Given the description of an element on the screen output the (x, y) to click on. 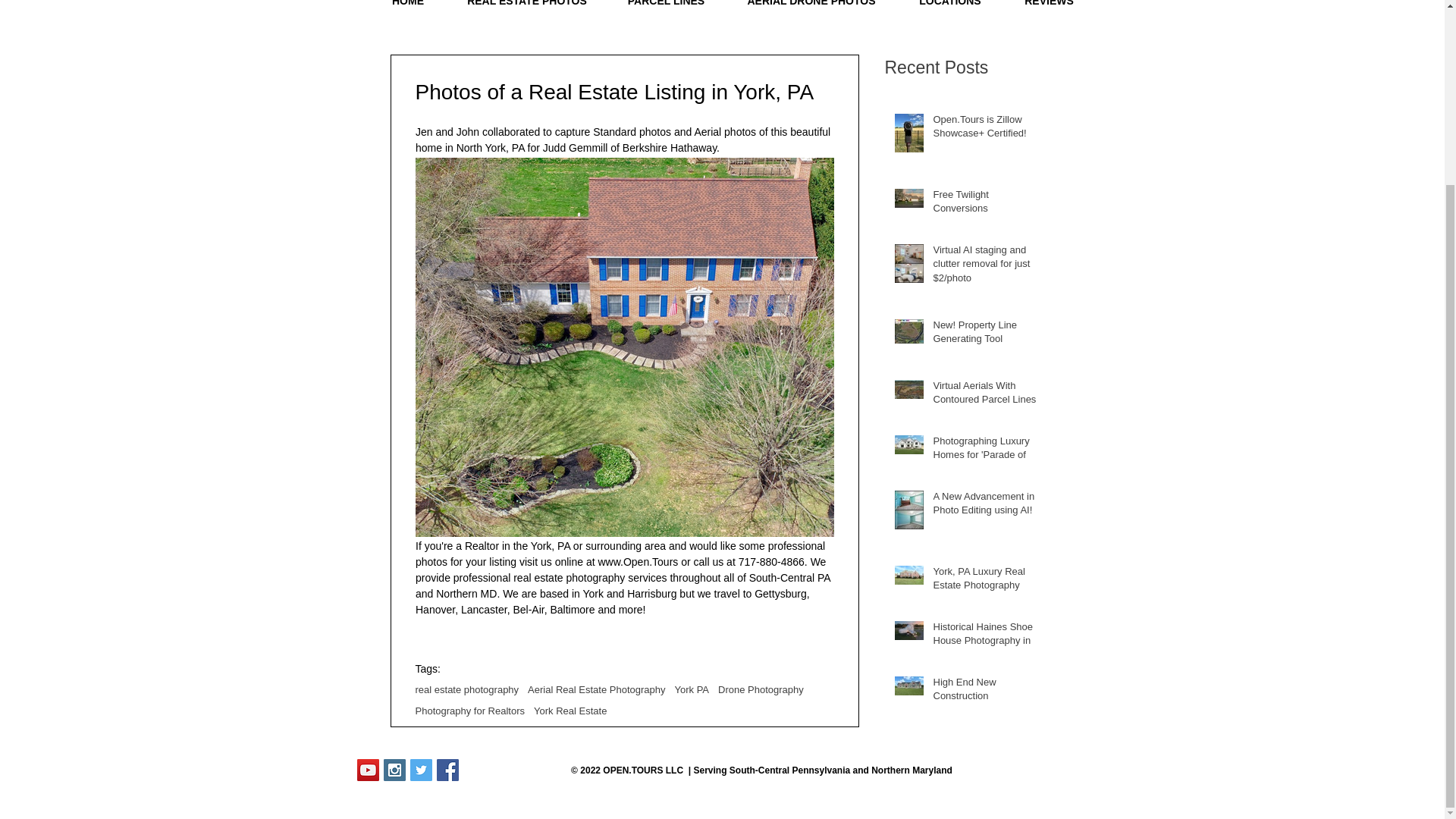
New! Property Line Generating Tool (987, 335)
York, PA Luxury Real Estate Photography (987, 581)
Photography for Realtors (469, 710)
Virtual Aerials With Contoured Parcel Lines (987, 395)
PARCEL LINES (666, 9)
Aerial Real Estate Photography (596, 689)
REVIEWS (1048, 9)
Historical Haines Shoe House Photography in Hallam, PA! (987, 643)
York PA (692, 689)
Drone Photography (760, 689)
